Given the description of an element on the screen output the (x, y) to click on. 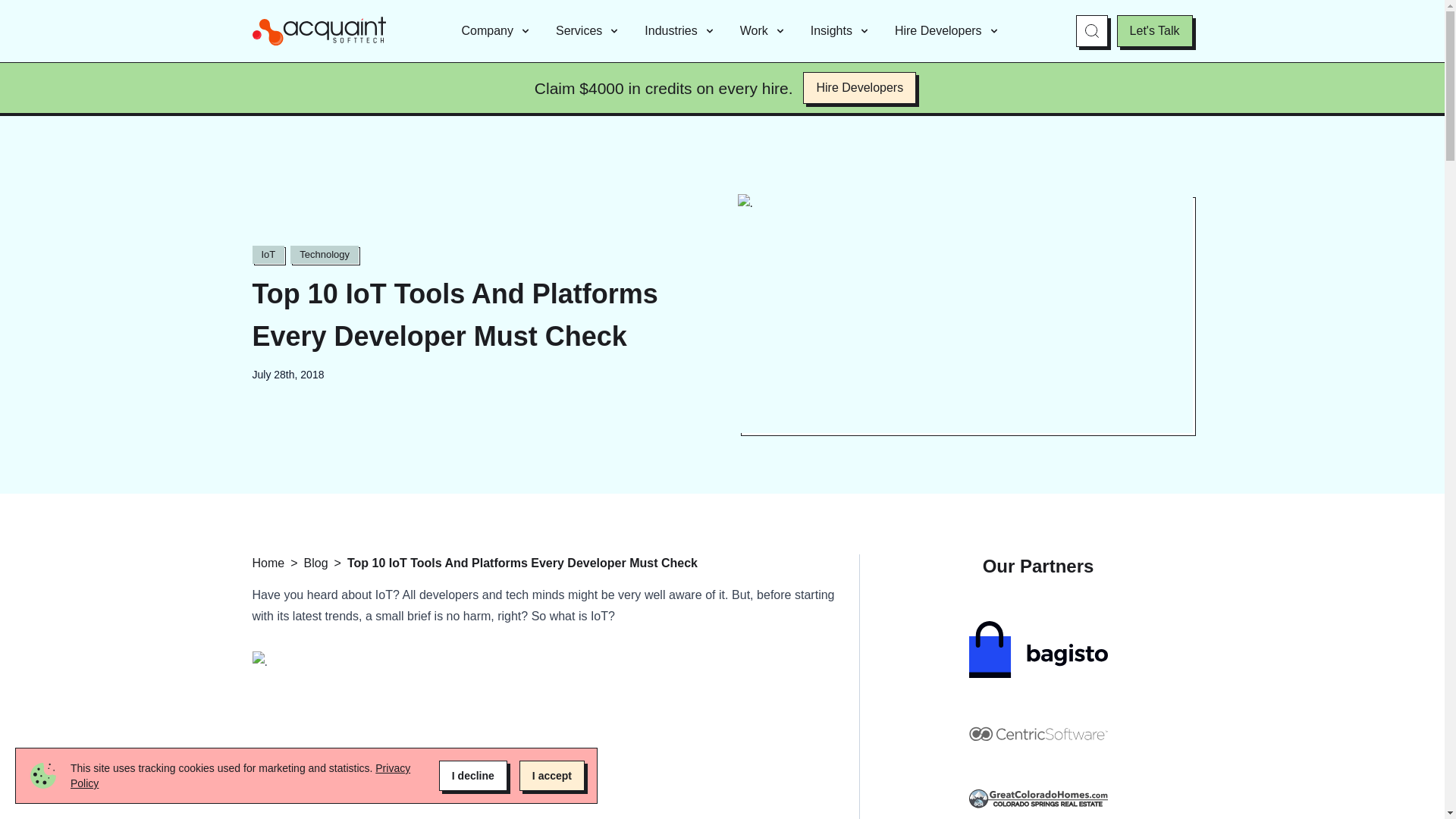
I decline (472, 775)
I accept (552, 775)
Privacy Policy (239, 775)
Cookie (42, 775)
